Given the description of an element on the screen output the (x, y) to click on. 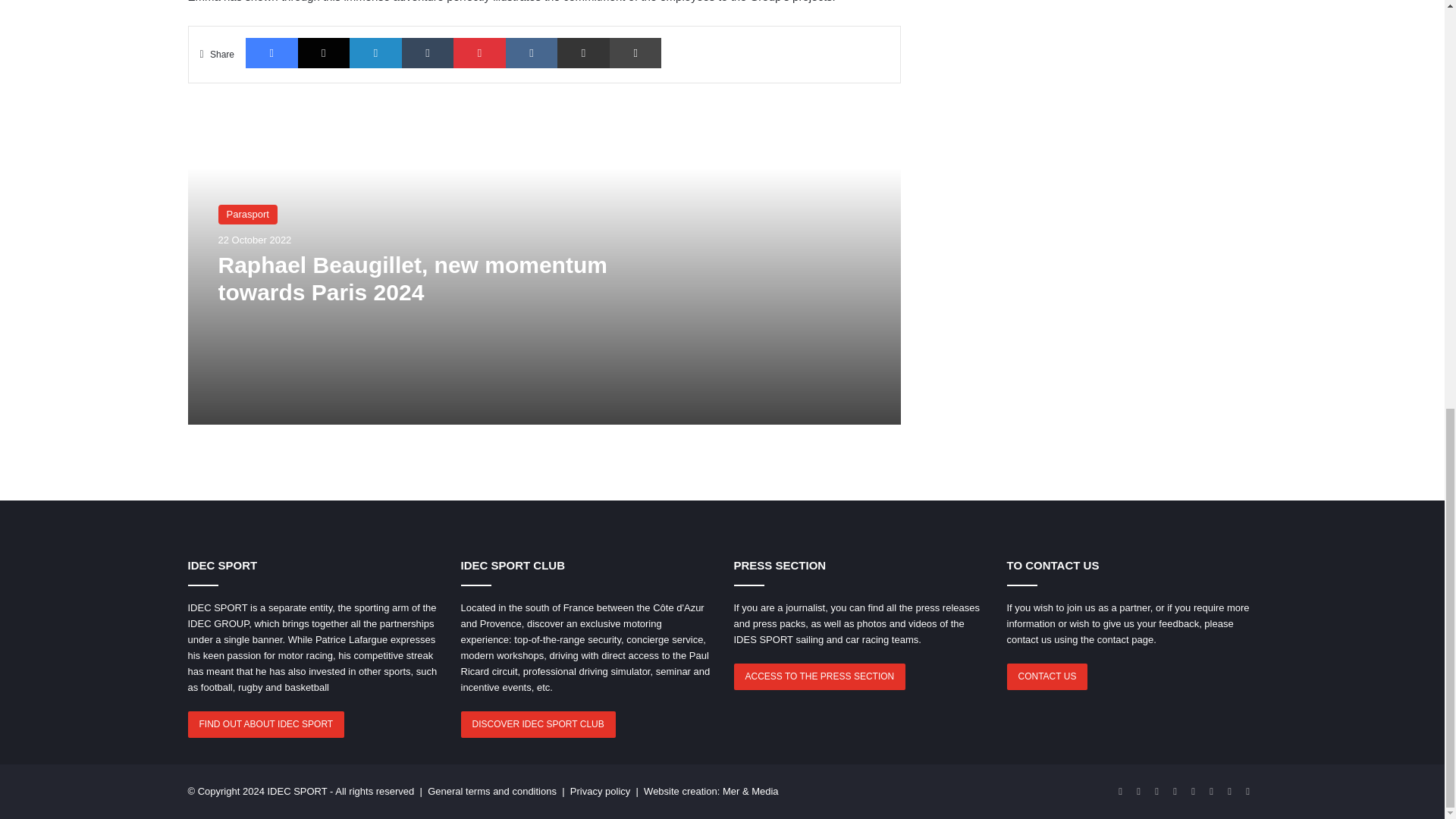
Share via Email (583, 52)
X (324, 52)
Print (636, 52)
Pinterest (478, 52)
LinkedIn (375, 52)
Tumblr (427, 52)
VKontakte (531, 52)
Facebook (272, 52)
